Given the description of an element on the screen output the (x, y) to click on. 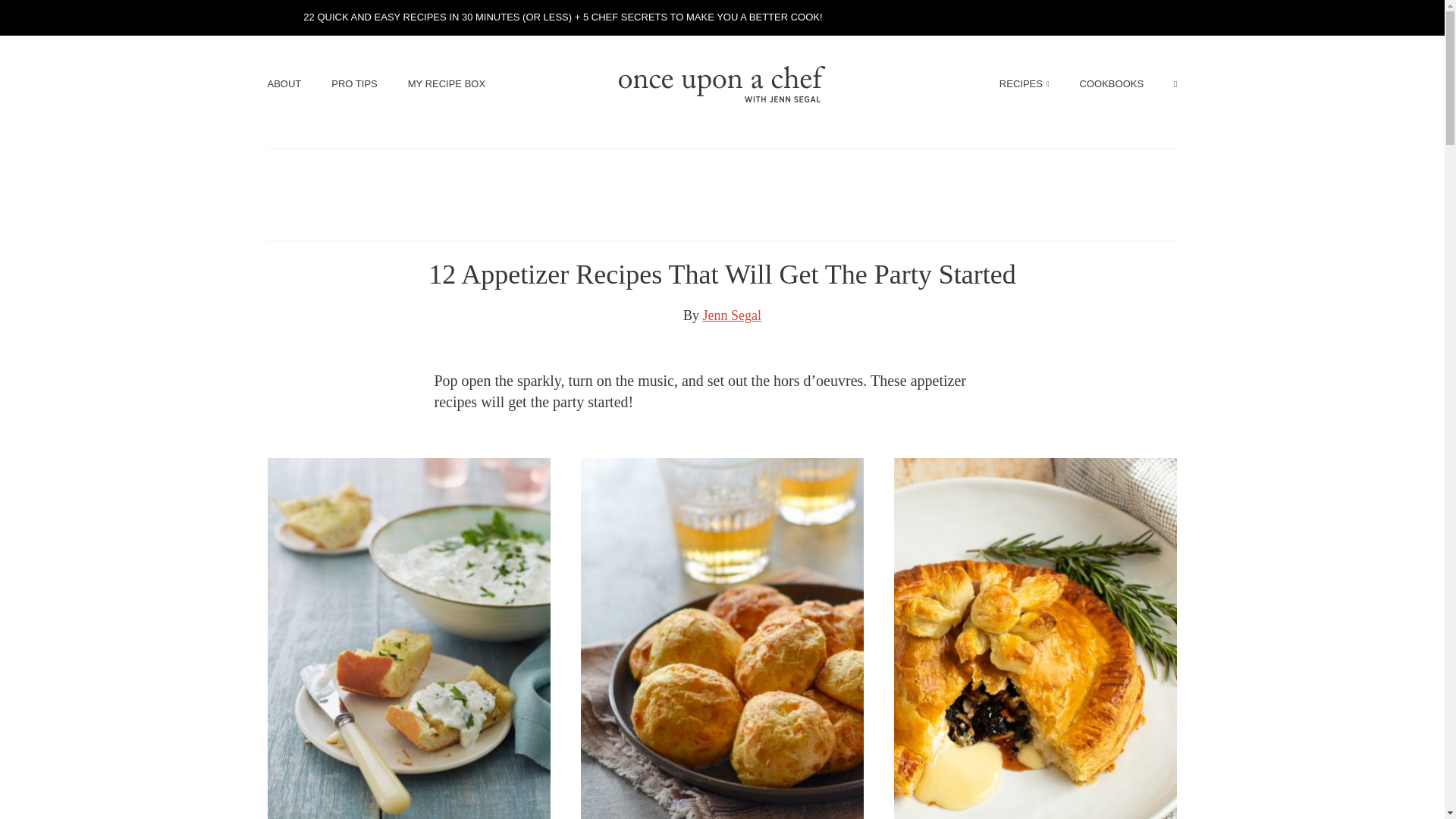
PRO TIPS (354, 83)
Jenn Segal (732, 314)
ABOUT (283, 83)
MY RECIPE BOX (445, 83)
COOKBOOKS (1112, 83)
RECIPES (1023, 83)
